Given the description of an element on the screen output the (x, y) to click on. 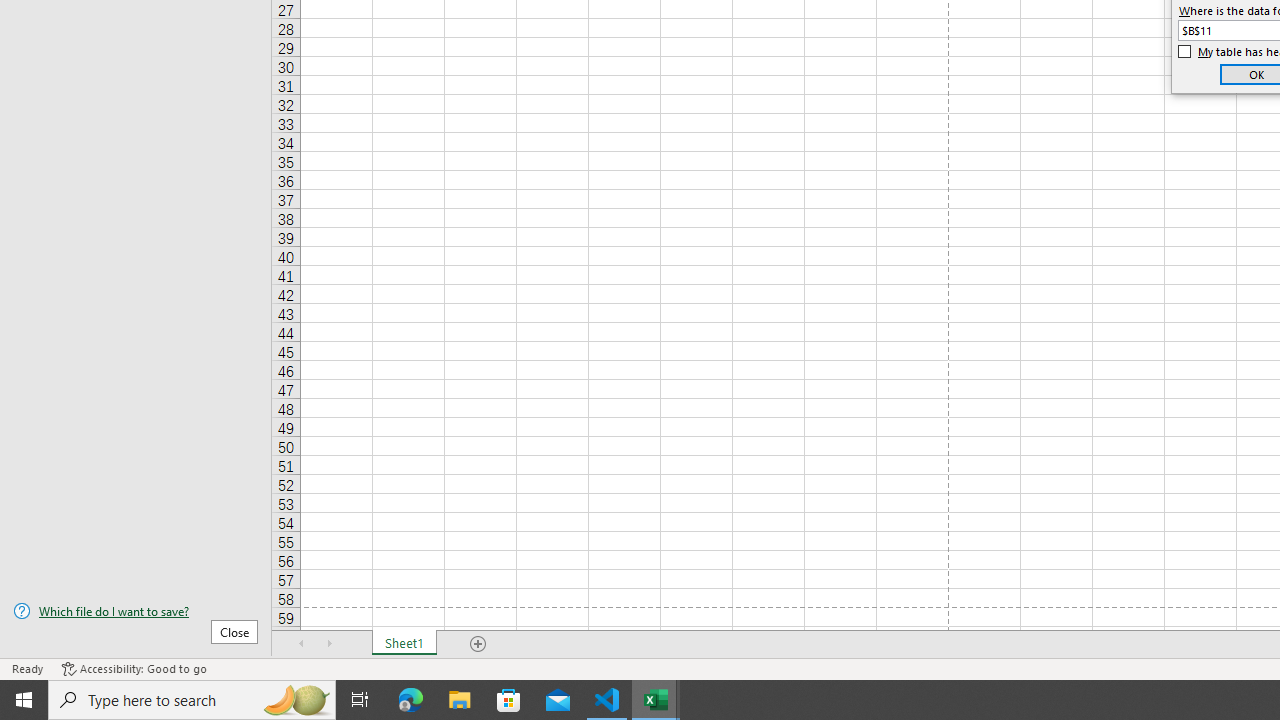
Which file do I want to save? (136, 611)
